Given the description of an element on the screen output the (x, y) to click on. 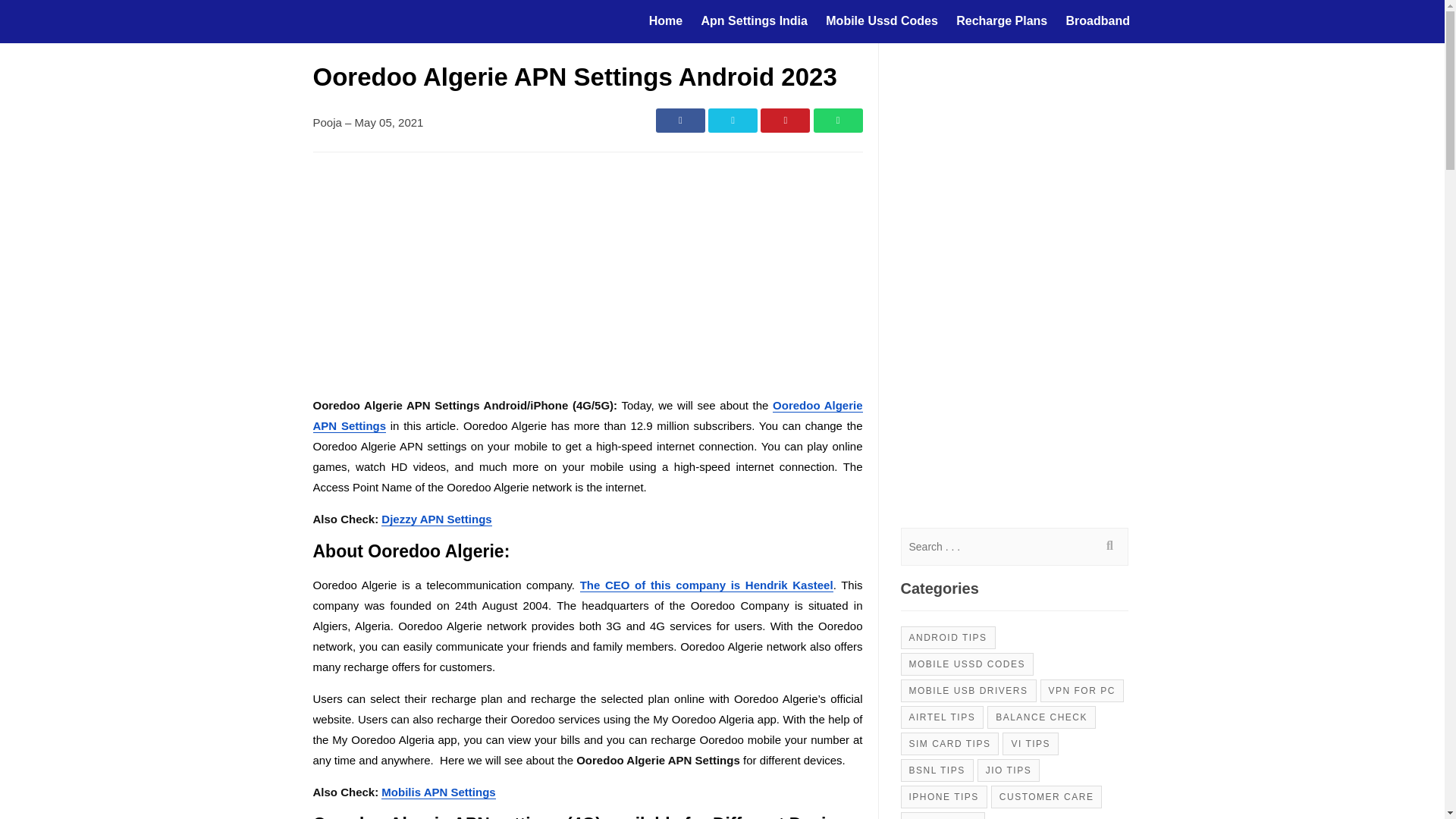
Ooredoo Algerie APN Settings (587, 415)
Admin (326, 122)
Pinterest (784, 120)
MOBILE USB DRIVERS (968, 690)
JIO TIPS (1007, 769)
permanent link (384, 122)
VPN FOR PC (1082, 690)
ANDROID TIPS (948, 637)
WhatsApp (836, 120)
AIRTEL TIPS (942, 716)
SIM CARD TIPS (949, 743)
Advertisement (587, 277)
Djezzy APN Settings (436, 519)
2021-05-05T08:32:00-07:00 (389, 122)
MOBILE USSD CODES (967, 662)
